Given the description of an element on the screen output the (x, y) to click on. 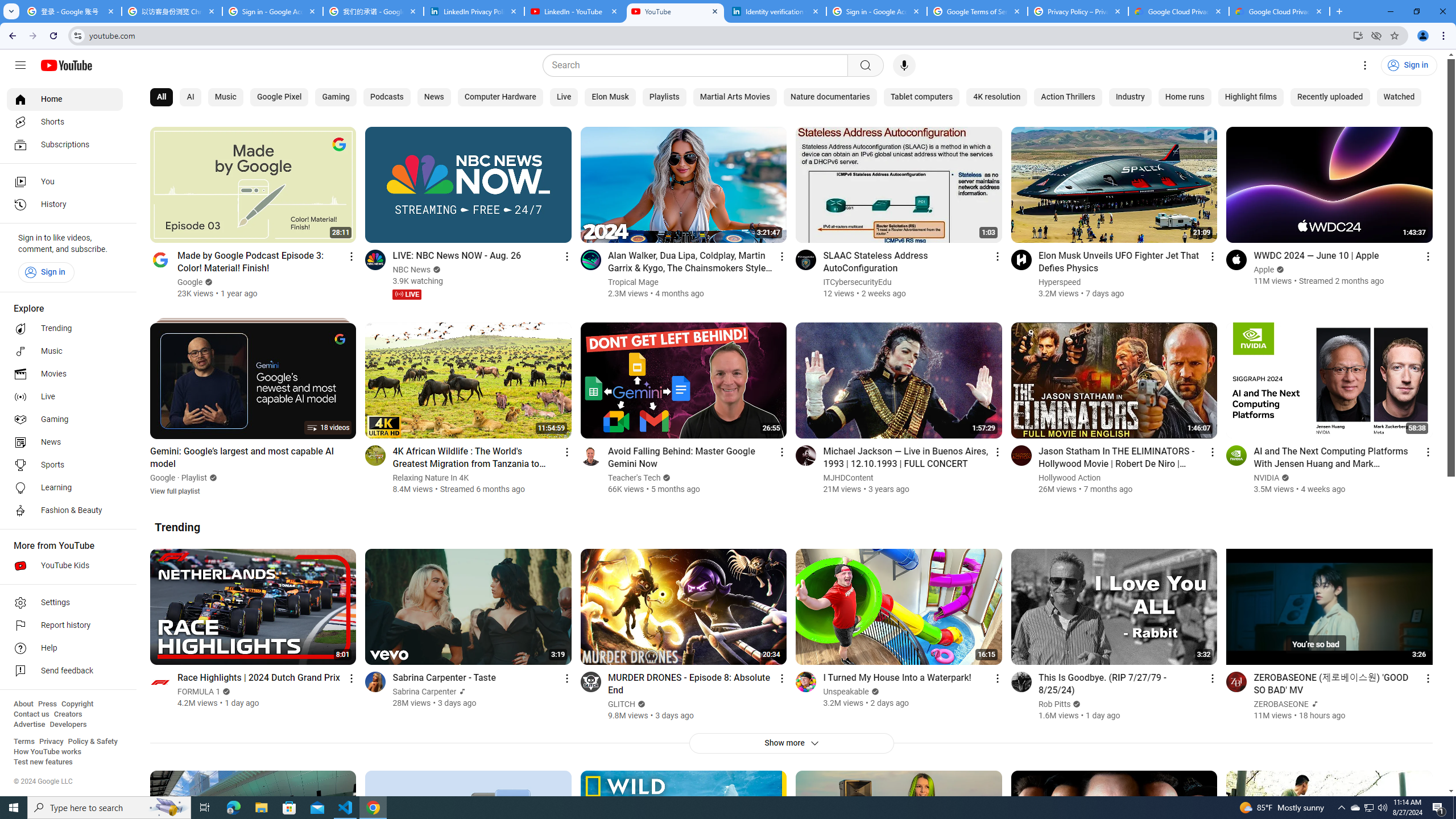
Playlists (663, 97)
Teacher's Tech (634, 477)
Test new features (42, 761)
Shorts (64, 121)
Hyperspeed (1059, 282)
Google Pixel (278, 97)
Tropical Mage (633, 282)
Unspeakable (846, 691)
GLITCH (621, 704)
All (161, 97)
Report history (64, 625)
